Given the description of an element on the screen output the (x, y) to click on. 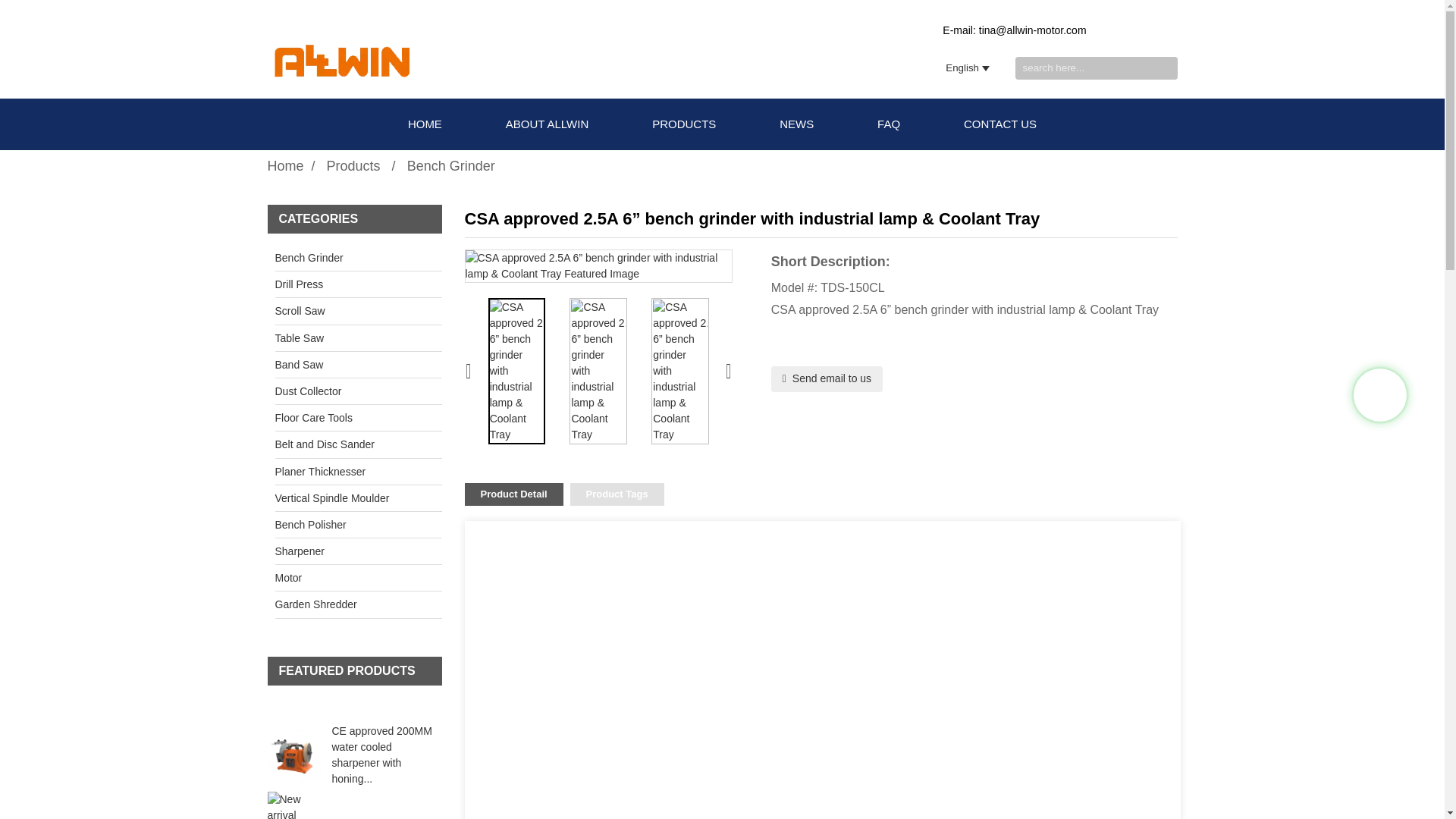
Table Saw (343, 338)
Bench Grinder (343, 257)
PRODUCTS (684, 123)
Products (353, 165)
Bench Grinder (451, 165)
ABOUT ALLWIN (546, 123)
Floor Care Tools (343, 417)
Products (353, 165)
Band Saw (343, 364)
